Given the description of an element on the screen output the (x, y) to click on. 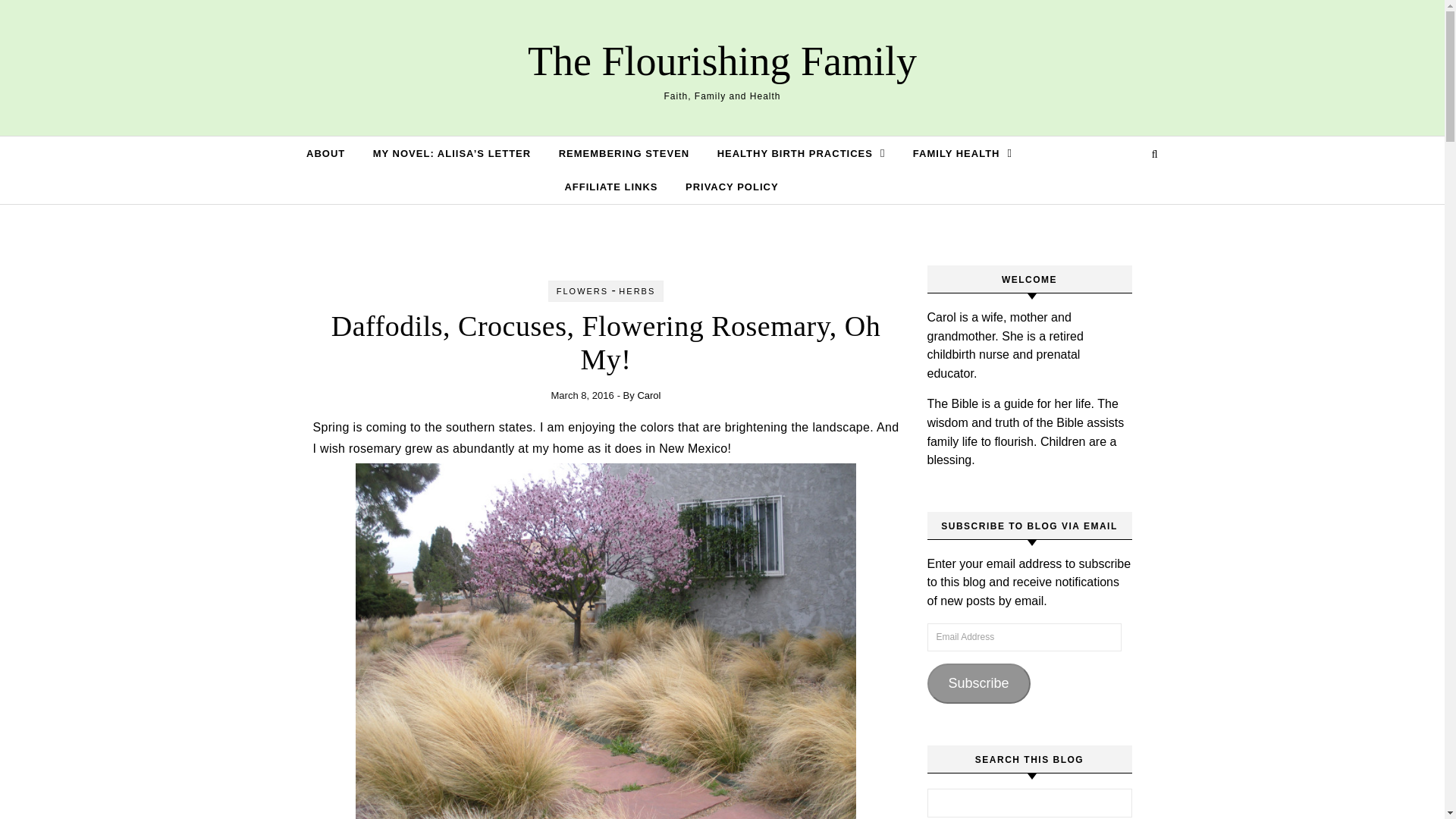
REMEMBERING STEVEN (624, 153)
AFFILIATE LINKS (610, 186)
Posts by Carol (649, 395)
PRIVACY POLICY (725, 186)
FAMILY HEALTH (963, 153)
ABOUT (330, 153)
HEALTHY BIRTH PRACTICES (801, 153)
The Flourishing Family (722, 61)
